Given the description of an element on the screen output the (x, y) to click on. 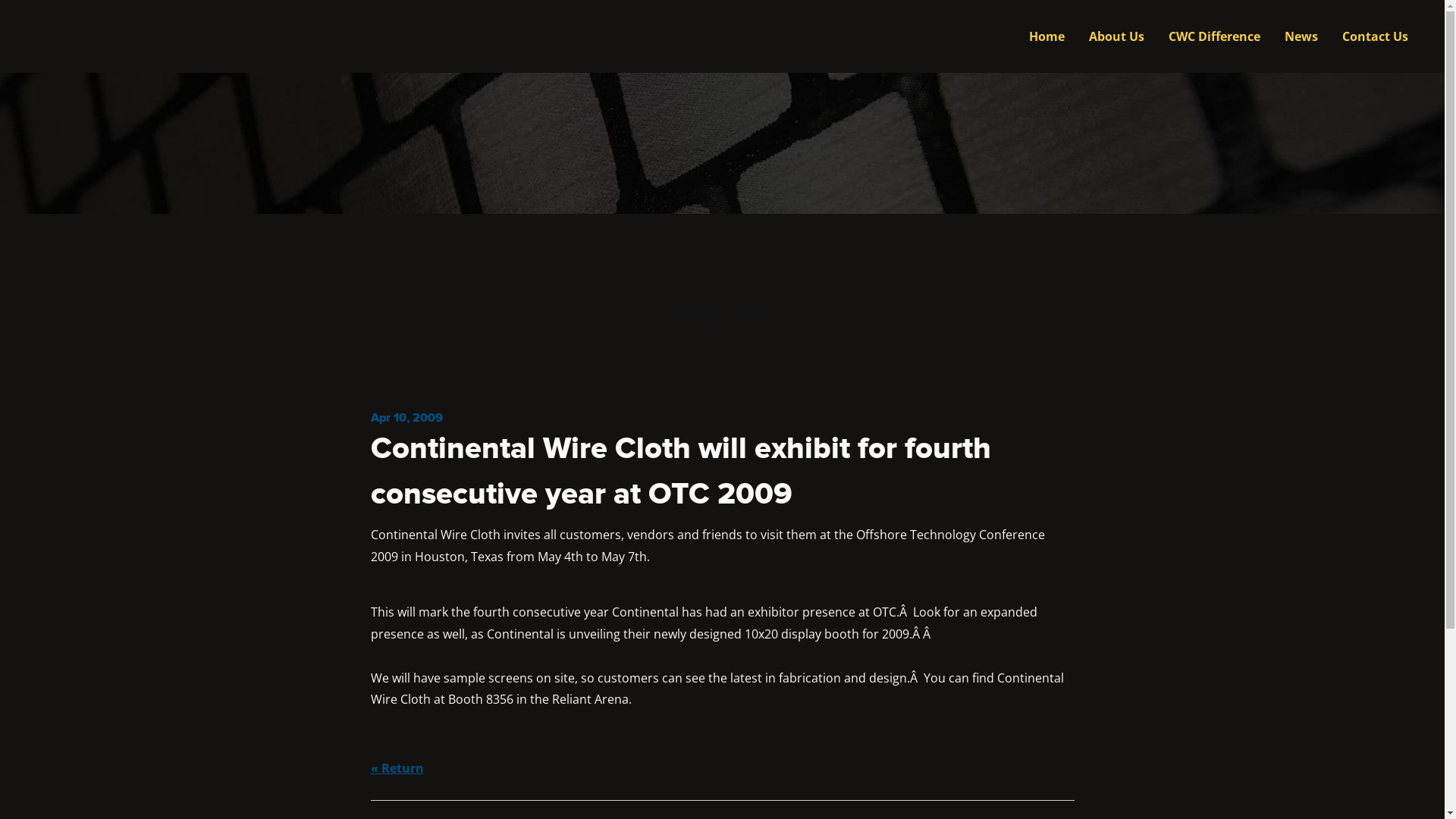
Contact Us Element type: text (1375, 36)
CWC Difference Element type: text (1214, 36)
News Element type: text (1301, 36)
Home Element type: text (1046, 36)
About Us Element type: text (1116, 36)
